Given the description of an element on the screen output the (x, y) to click on. 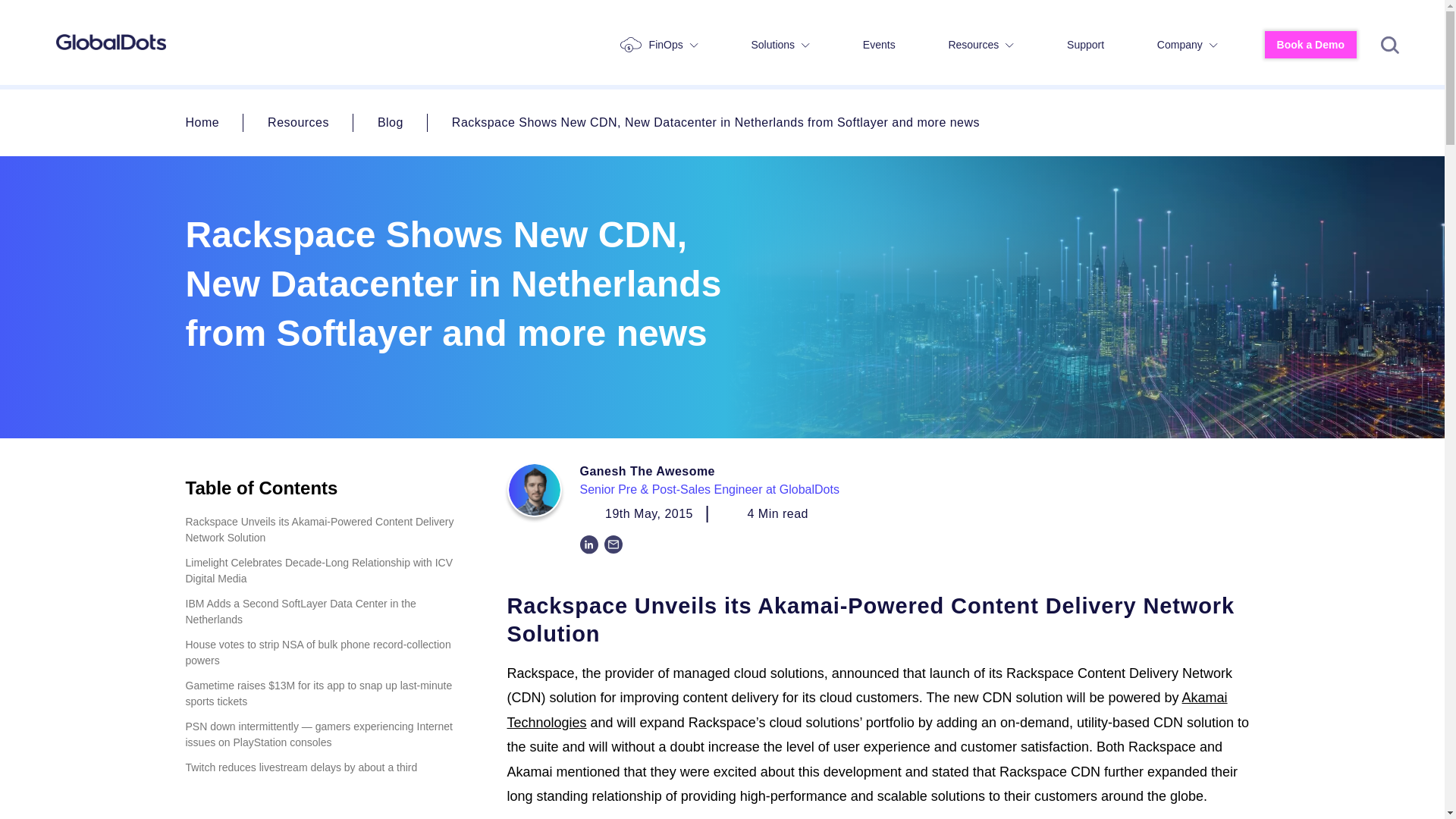
FinOps (659, 44)
Twitch reduces livestream delays by about a third (321, 767)
IBM Adds a Second SoftLayer Data Center in the Netherlands (321, 612)
Solutions (779, 44)
Akamai Technologies (866, 709)
